Given the description of an element on the screen output the (x, y) to click on. 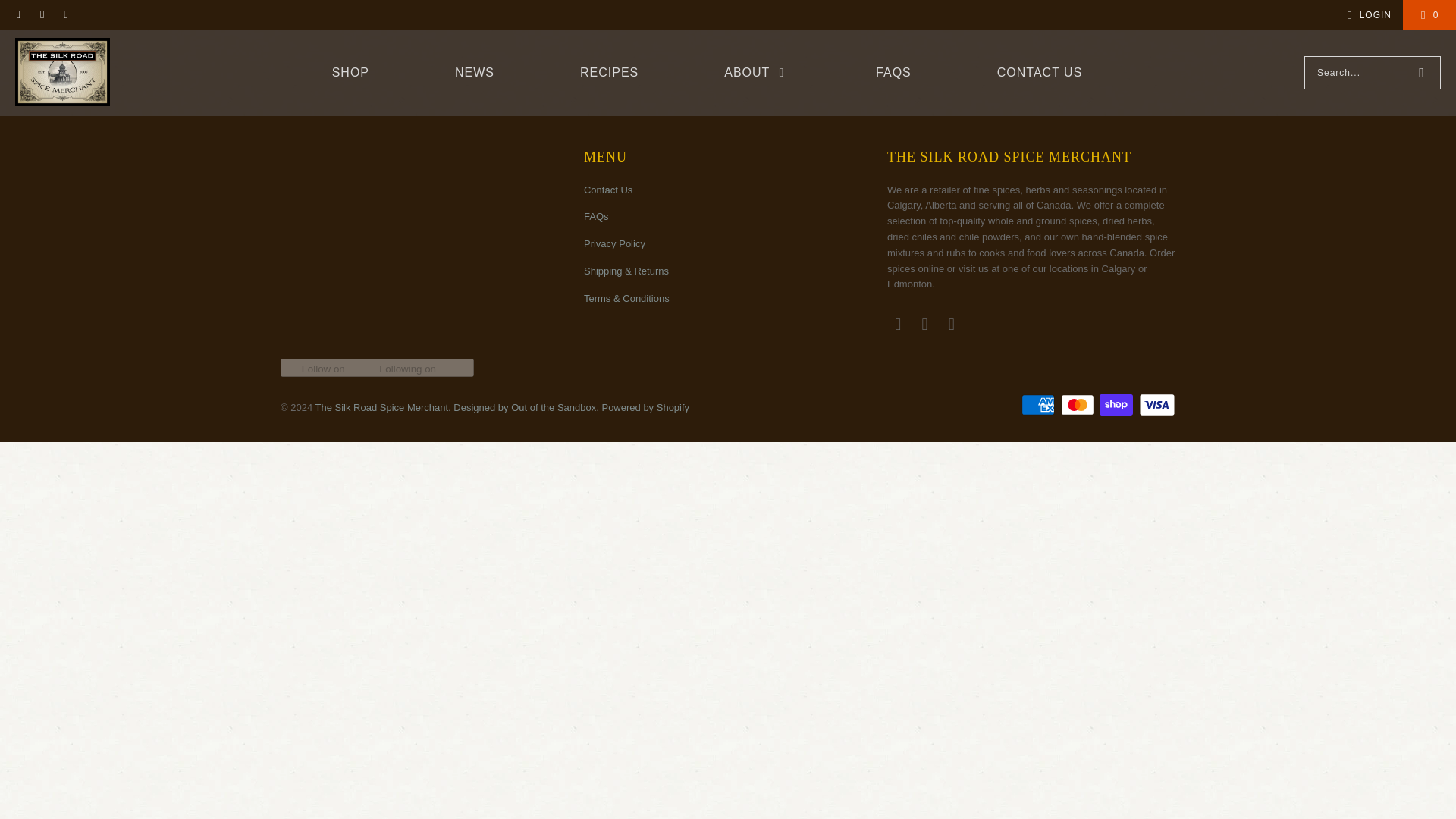
Mastercard (1079, 404)
RECIPES (609, 72)
FAQS (893, 72)
The Silk Road Spice Merchant on Instagram (951, 324)
CONTACT US (1040, 72)
Shop Pay (1117, 404)
The Silk Road Spice Merchant (62, 72)
The Silk Road Spice Merchant on Instagram (65, 14)
My Account  (1366, 14)
LOGIN (1366, 14)
American Express (1040, 404)
The Silk Road Spice Merchant on Facebook (925, 324)
SHOP (350, 72)
The Silk Road Spice Merchant on Facebook (41, 14)
Email The Silk Road Spice Merchant (17, 14)
